Given the description of an element on the screen output the (x, y) to click on. 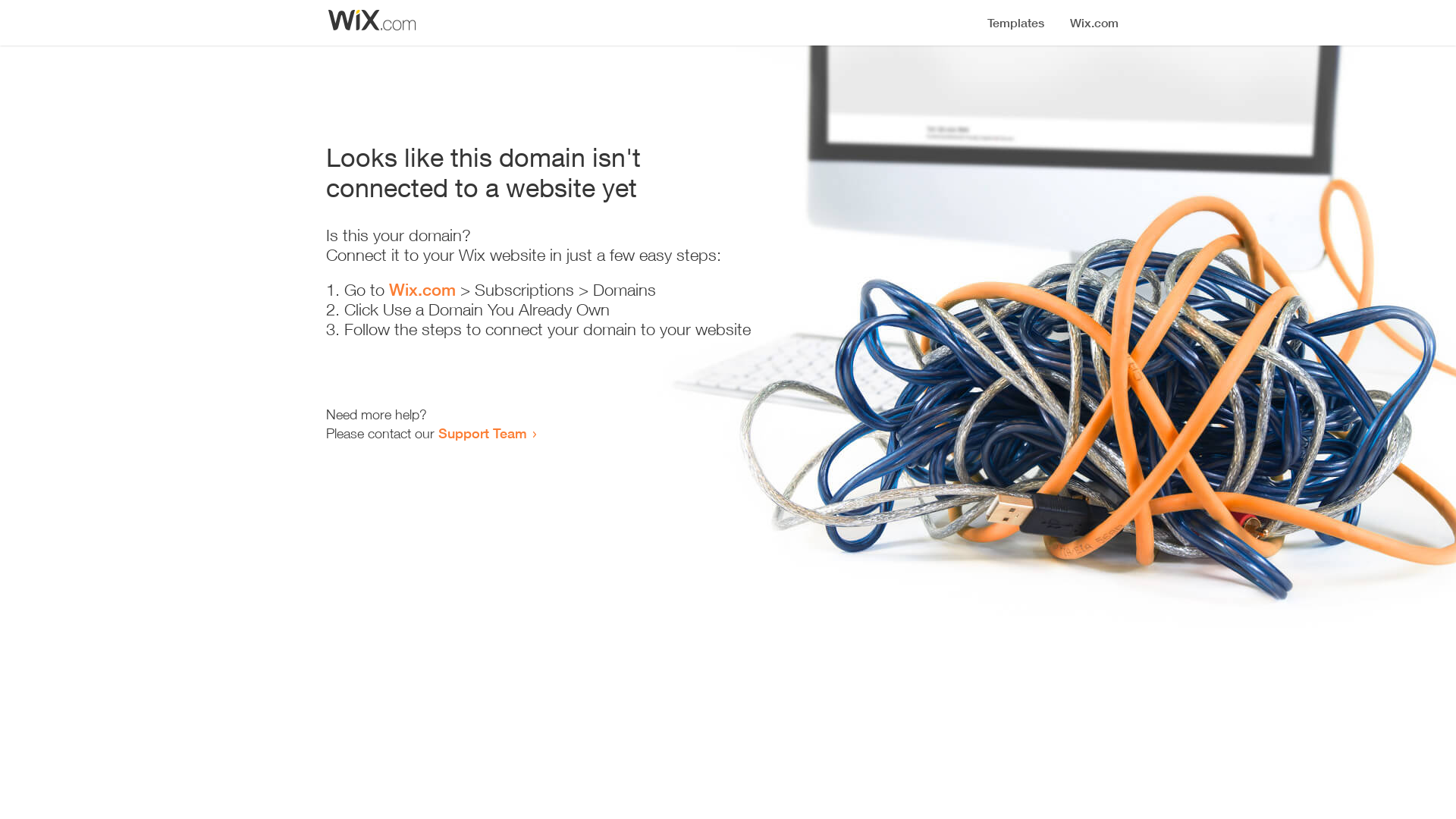
Wix.com Element type: text (422, 289)
Support Team Element type: text (482, 432)
